Given the description of an element on the screen output the (x, y) to click on. 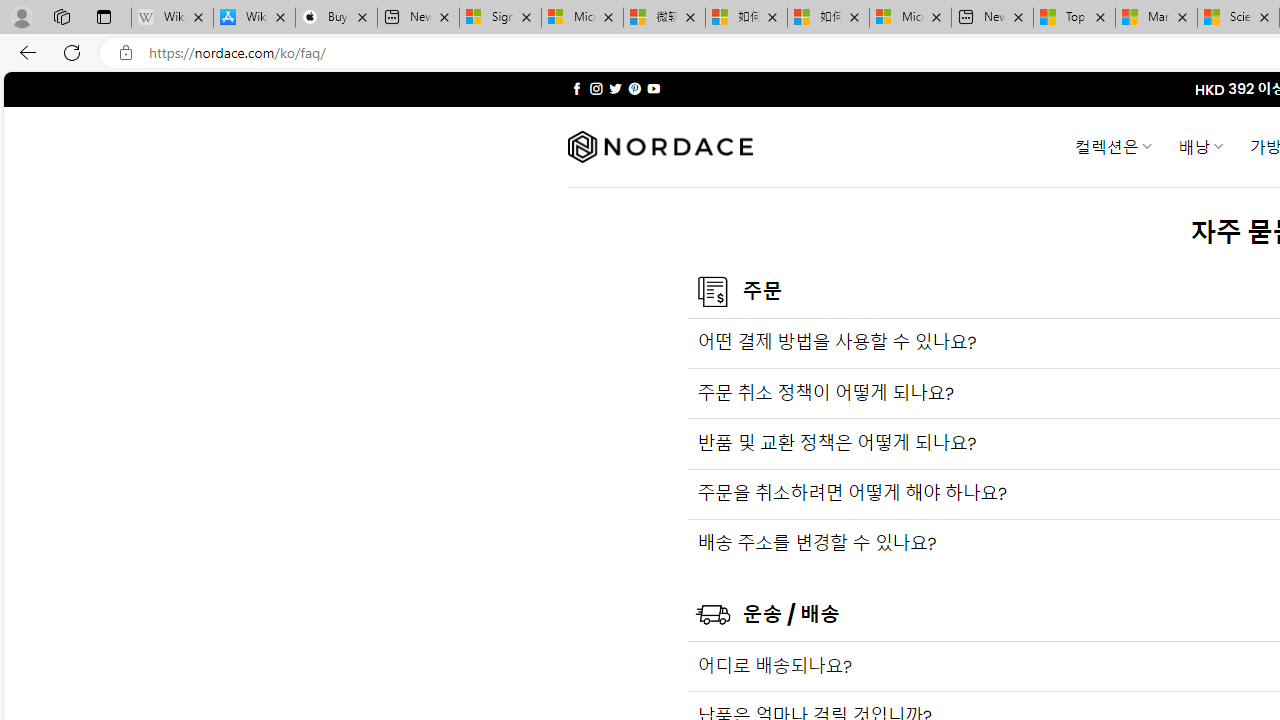
Follow on Pinterest (634, 88)
Follow on Instagram (596, 88)
Follow on YouTube (653, 88)
